Given the description of an element on the screen output the (x, y) to click on. 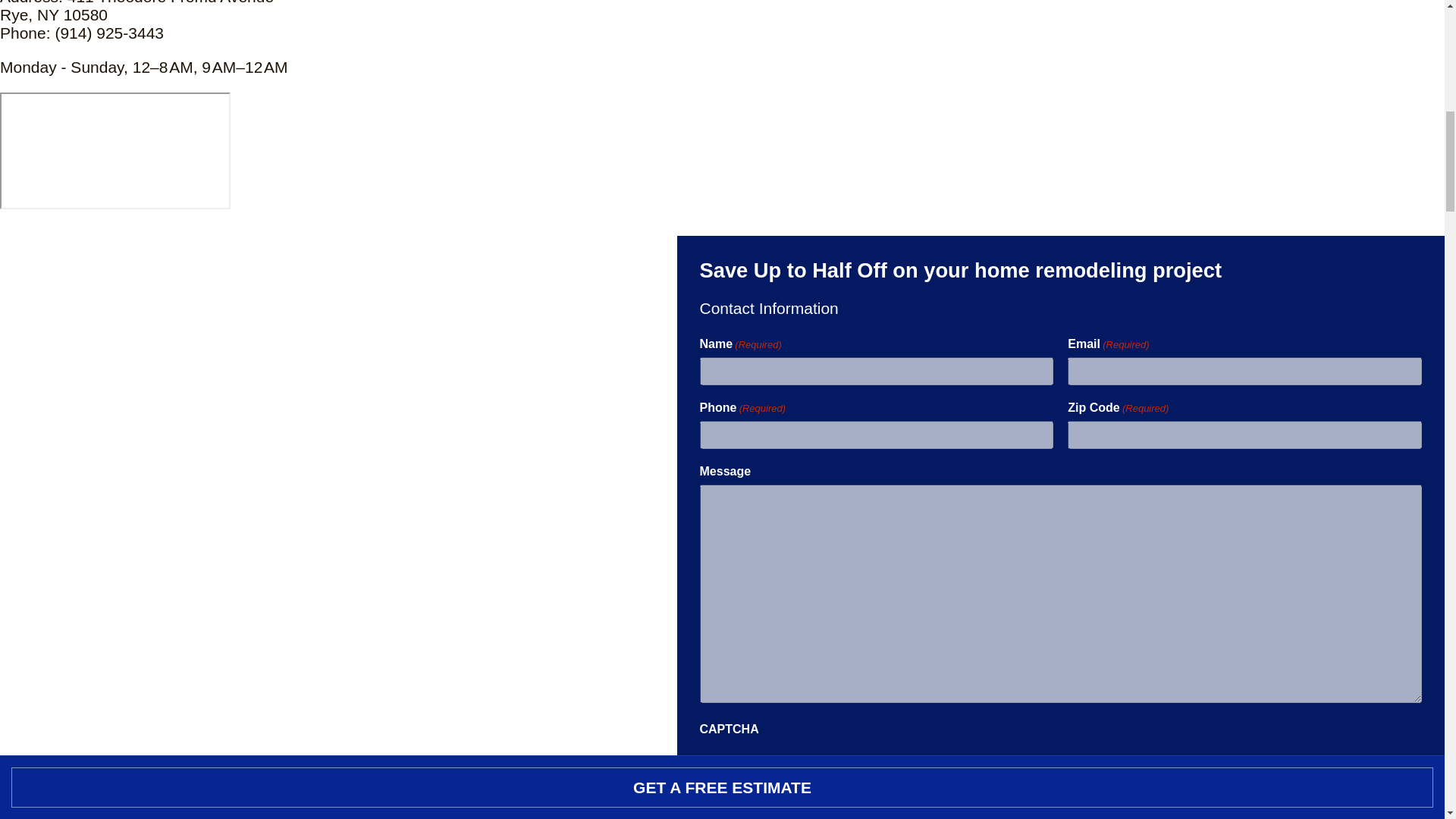
Submit (720, 766)
Submit (720, 766)
